Given the description of an element on the screen output the (x, y) to click on. 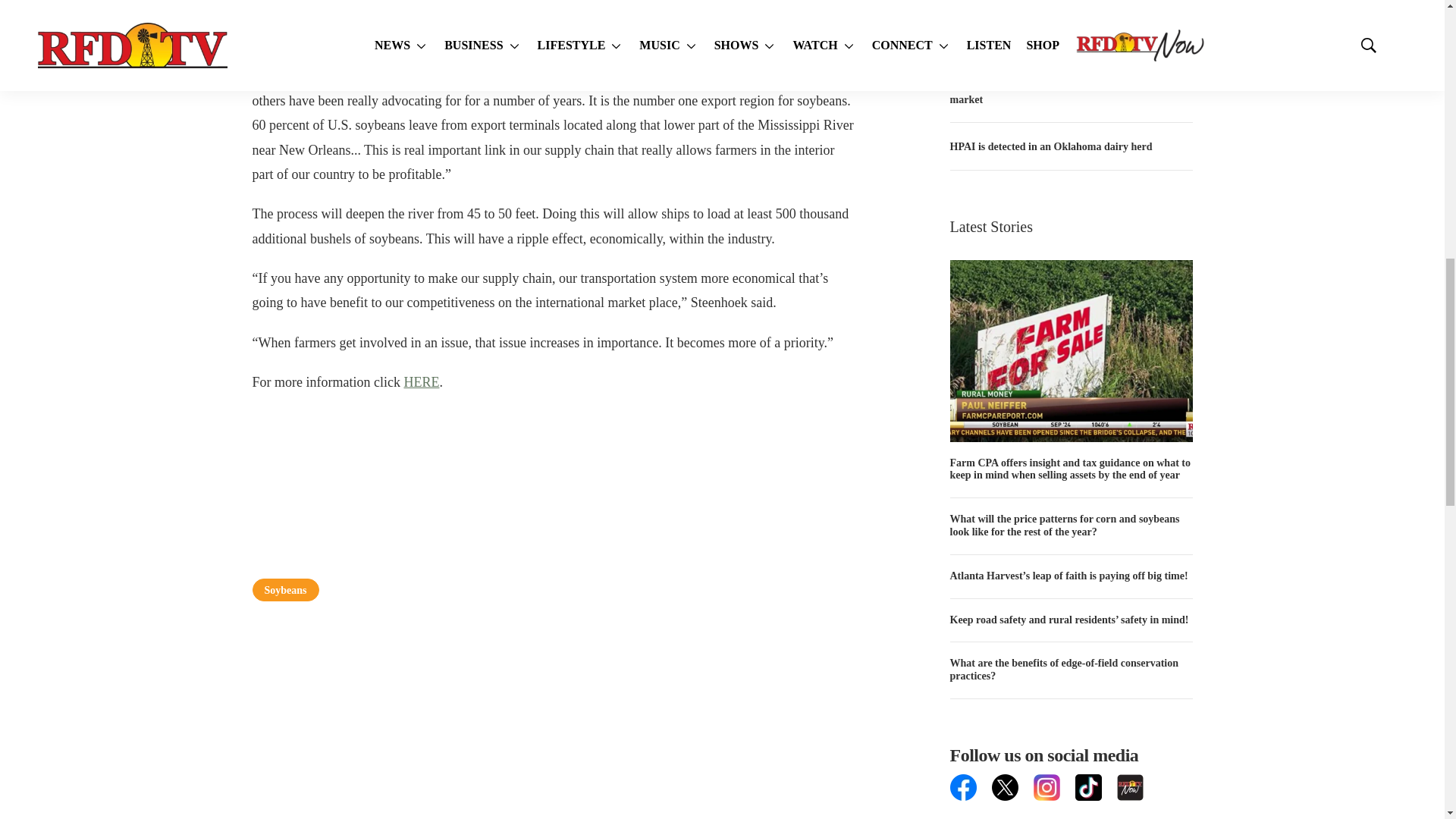
Signup Widget Embed (1070, 809)
